Given the description of an element on the screen output the (x, y) to click on. 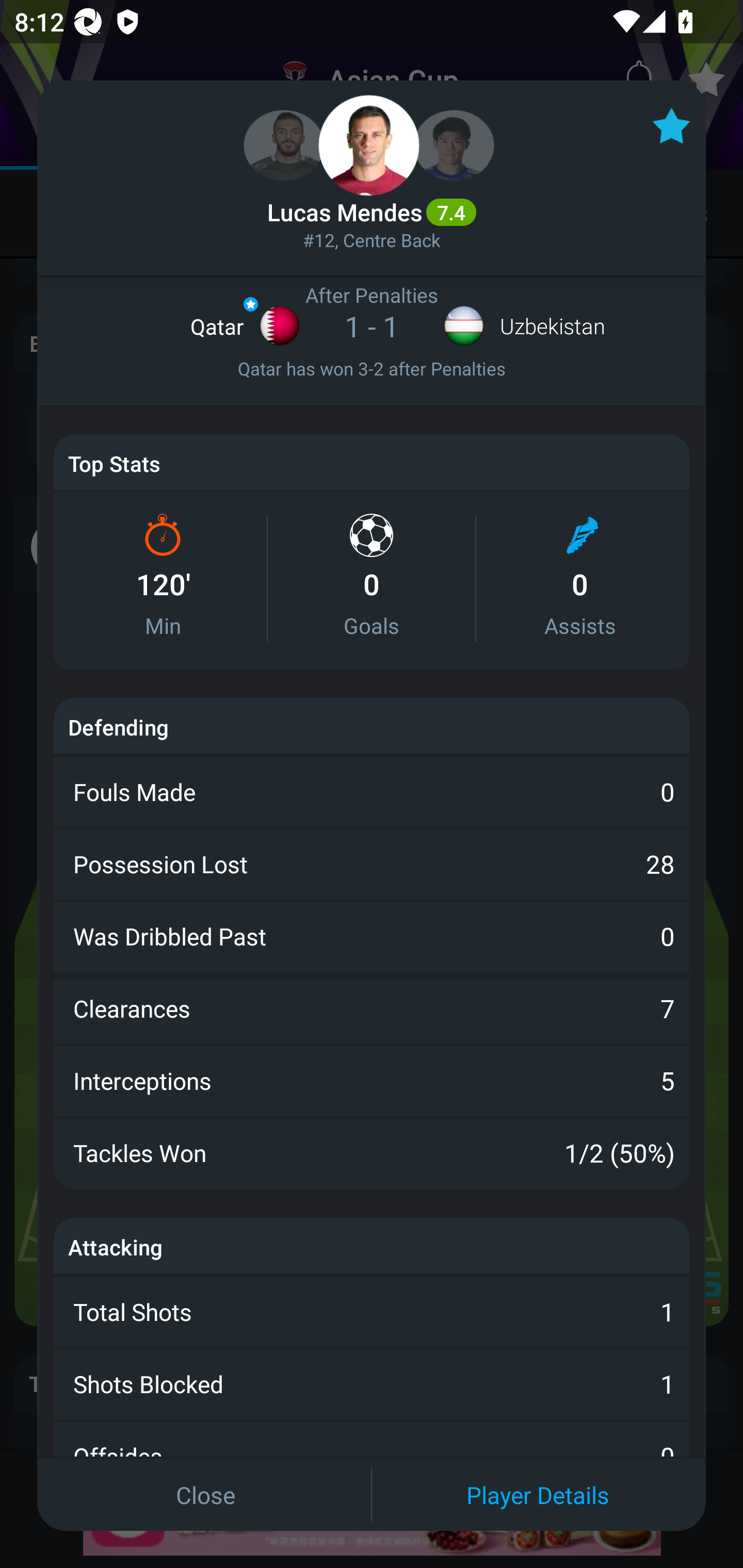
Defending (118, 727)
Attacking (115, 1246)
Close (205, 1494)
Player Details (537, 1494)
